Given the description of an element on the screen output the (x, y) to click on. 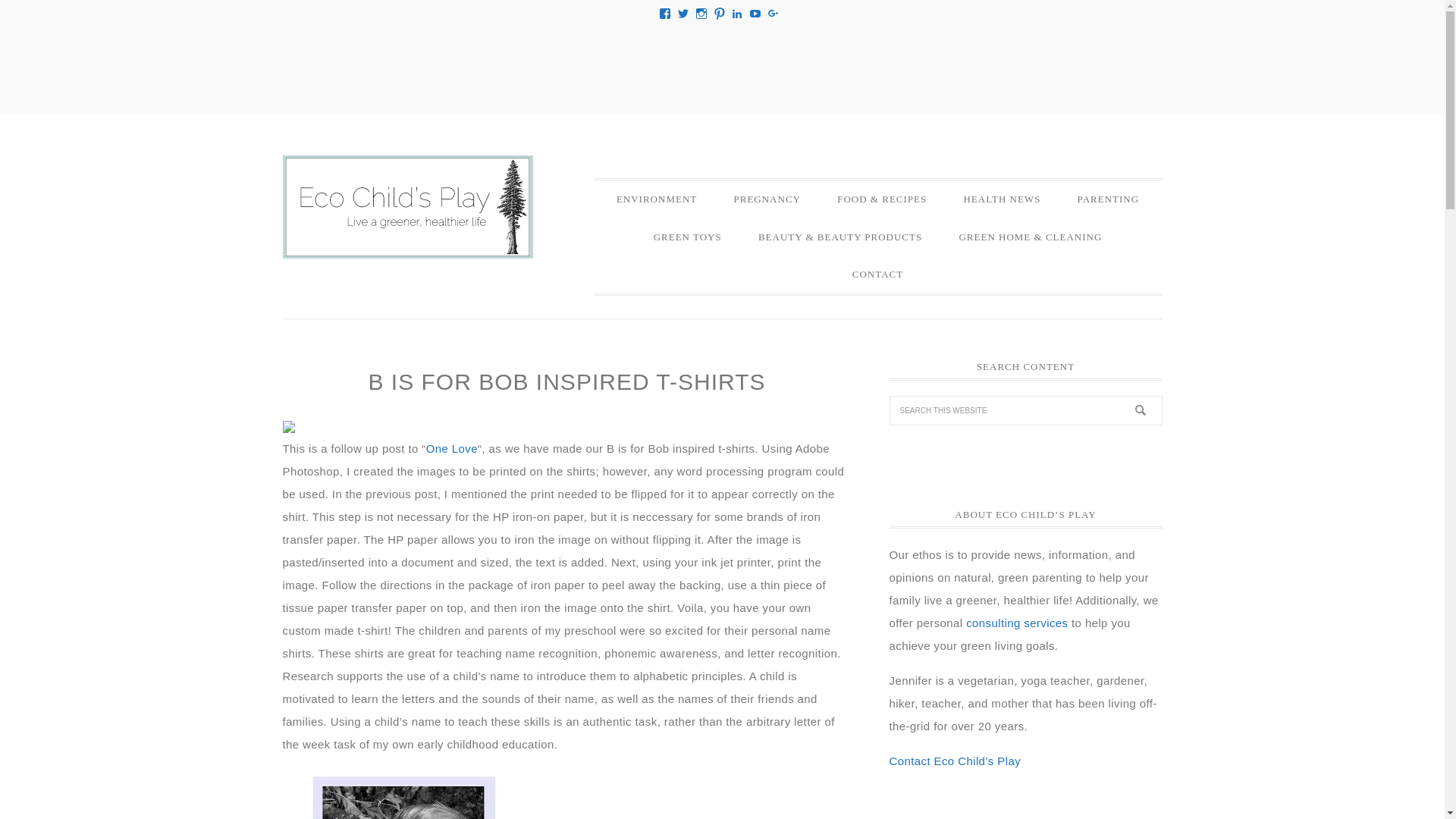
Advertisement (721, 64)
One Love (451, 447)
GREEN TOYS (687, 237)
ECO CHILD'S PLAY (407, 206)
ENVIRONMENT (656, 199)
HEALTH NEWS (1001, 199)
PARENTING (1108, 199)
CONTACT (877, 274)
PREGNANCY (766, 199)
